Given the description of an element on the screen output the (x, y) to click on. 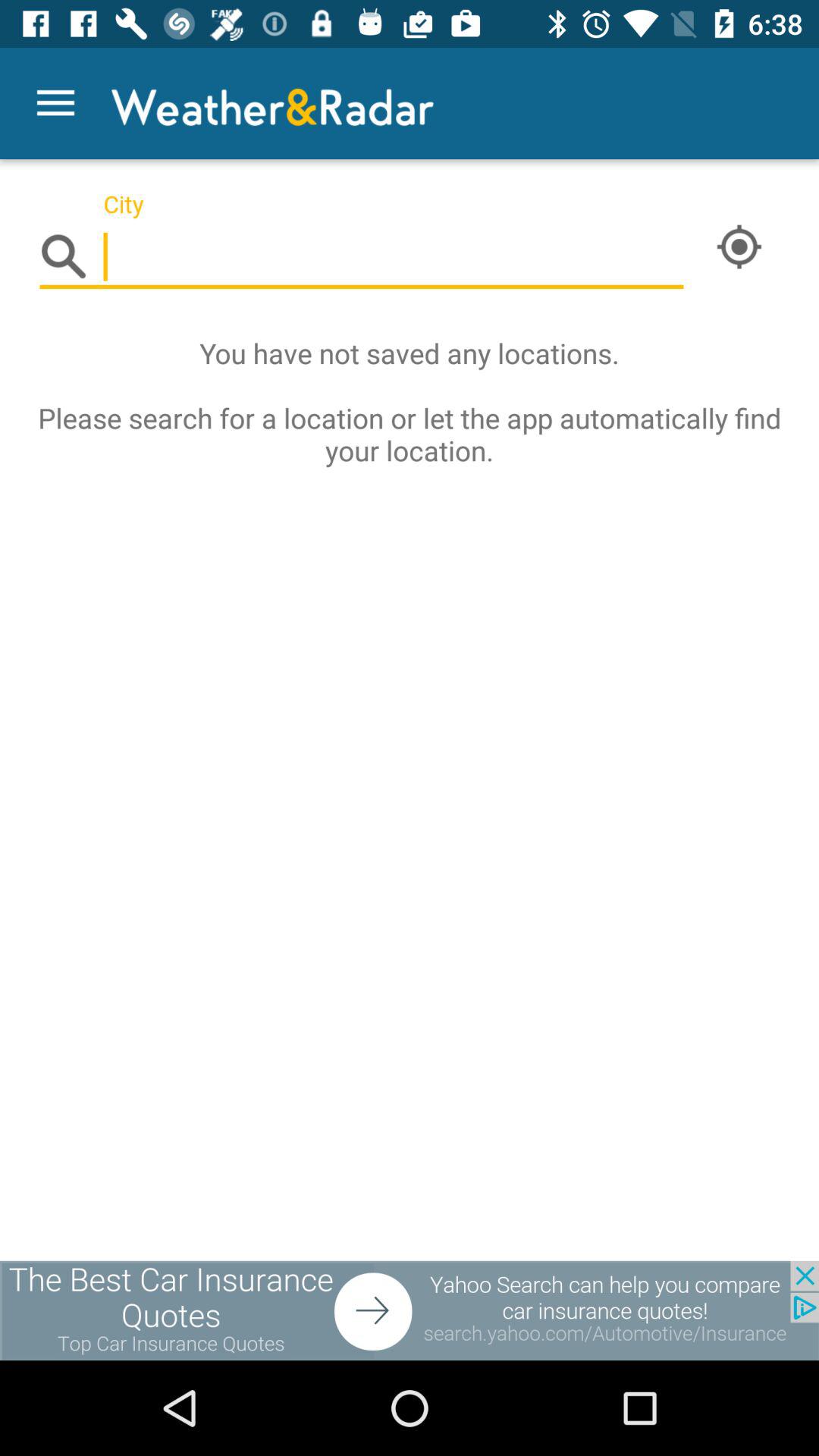
advertisement page (409, 1310)
